Given the description of an element on the screen output the (x, y) to click on. 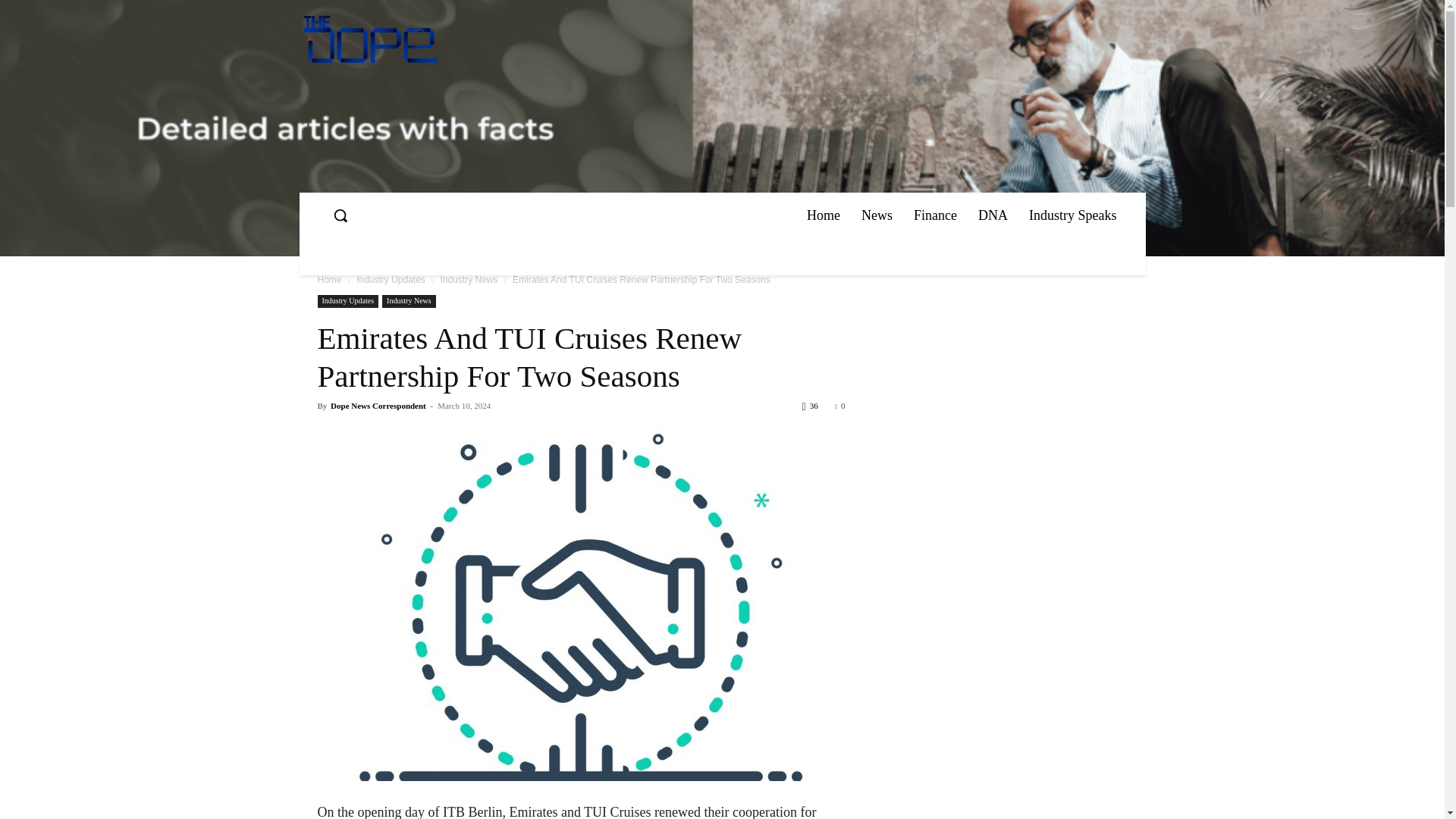
Dope News Correspondent (378, 405)
DNA (992, 215)
Industry News (408, 300)
0 (839, 405)
View all posts in Industry News (468, 279)
Industry Updates (390, 279)
News (876, 215)
Industry News (468, 279)
Finance (935, 215)
Industry Updates (347, 300)
Industry Speaks (1071, 215)
Home (823, 215)
Home (328, 279)
View all posts in Industry Updates (390, 279)
